Given the description of an element on the screen output the (x, y) to click on. 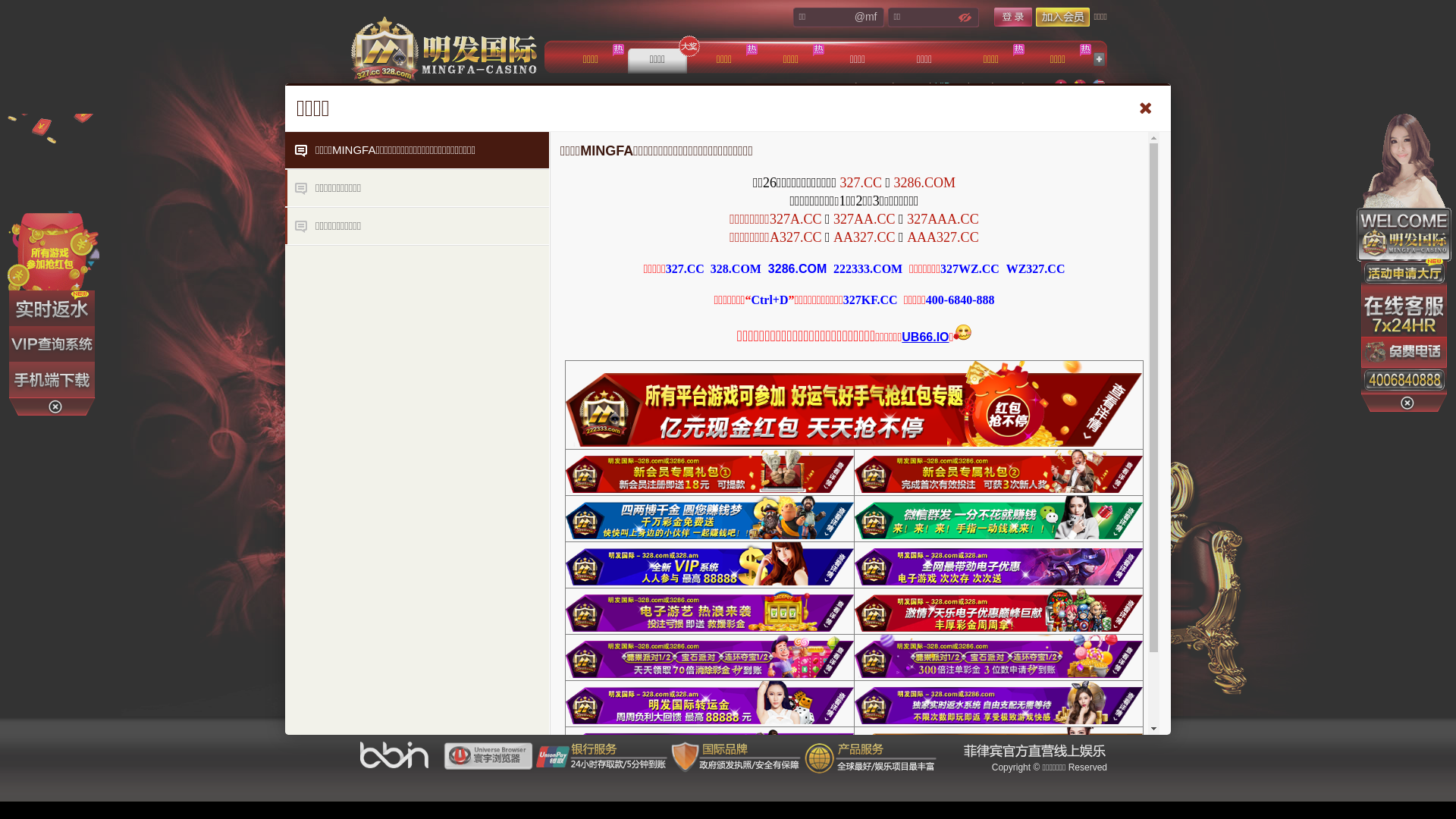
UB66.IO Element type: text (924, 336)
English Element type: hover (1098, 86)
327KF.CC Element type: text (870, 299)
